Given the description of an element on the screen output the (x, y) to click on. 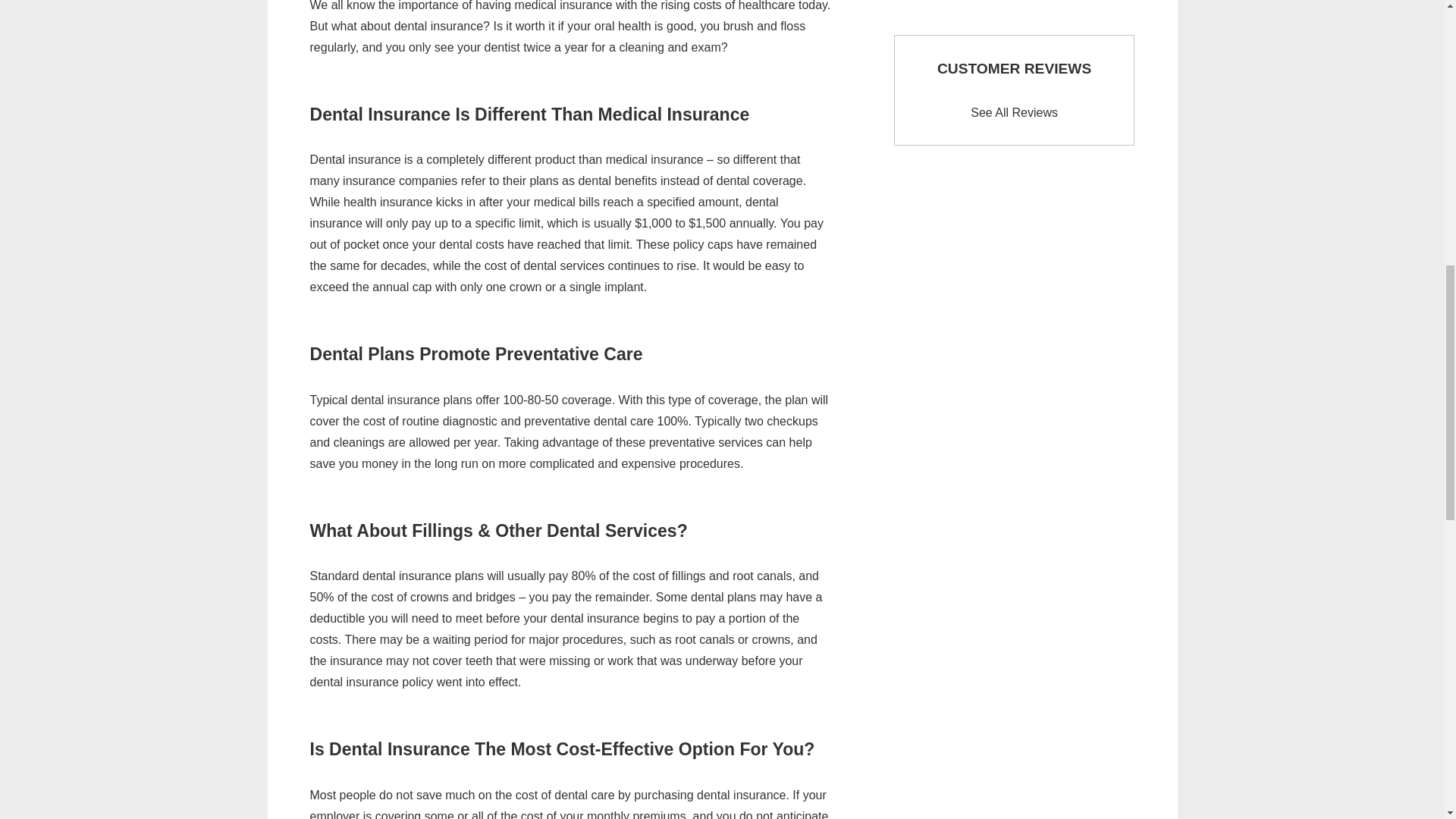
See All Reviews (1014, 112)
